Given the description of an element on the screen output the (x, y) to click on. 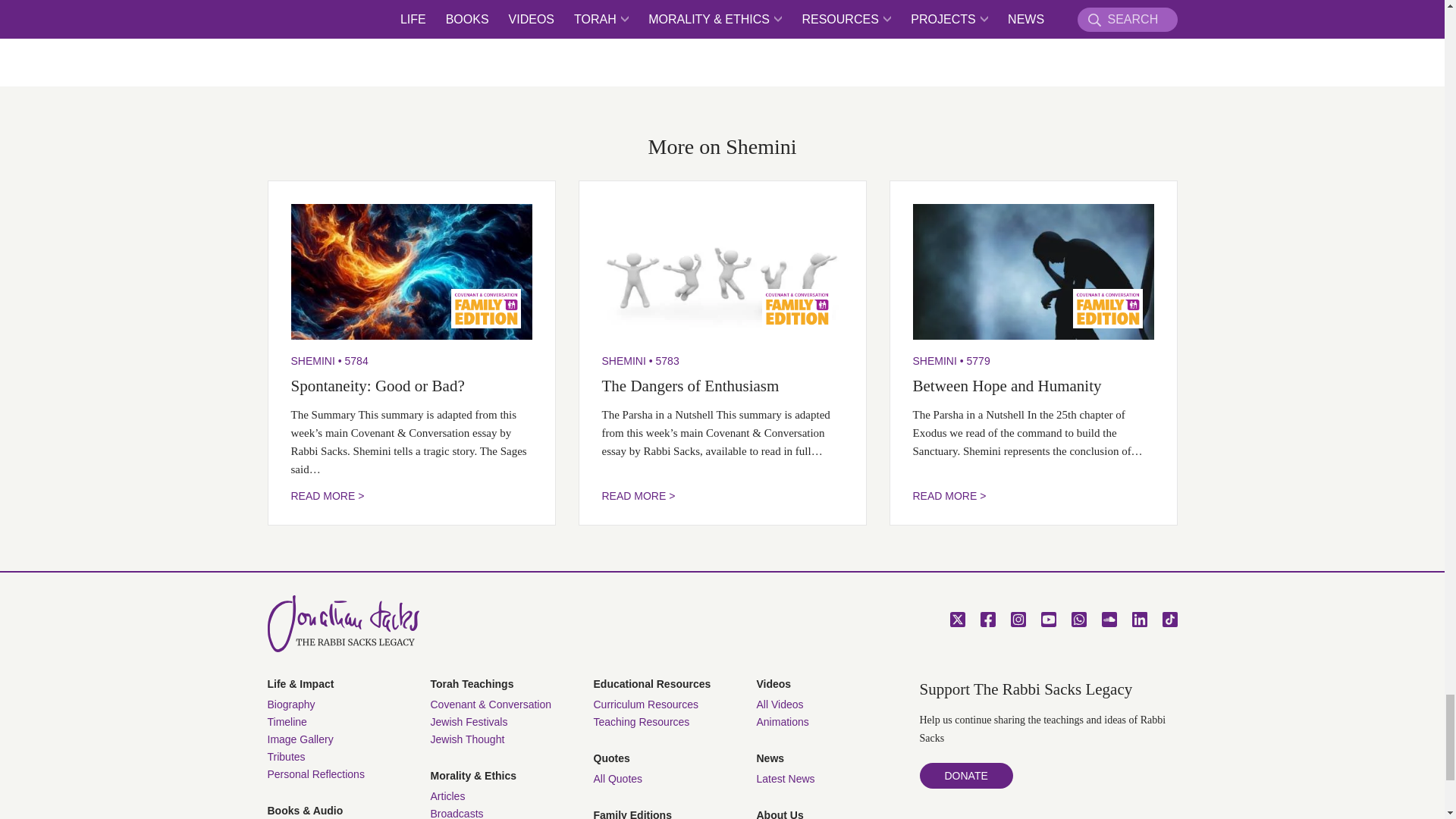
Soundcloud (1108, 619)
TikTok (1168, 619)
YouTube (1048, 619)
LinkedIn (1139, 619)
The Rabbi Sacks Legacy (342, 623)
Facebook (986, 619)
WhatsApp (1078, 619)
Instagram (1017, 619)
